Given the description of an element on the screen output the (x, y) to click on. 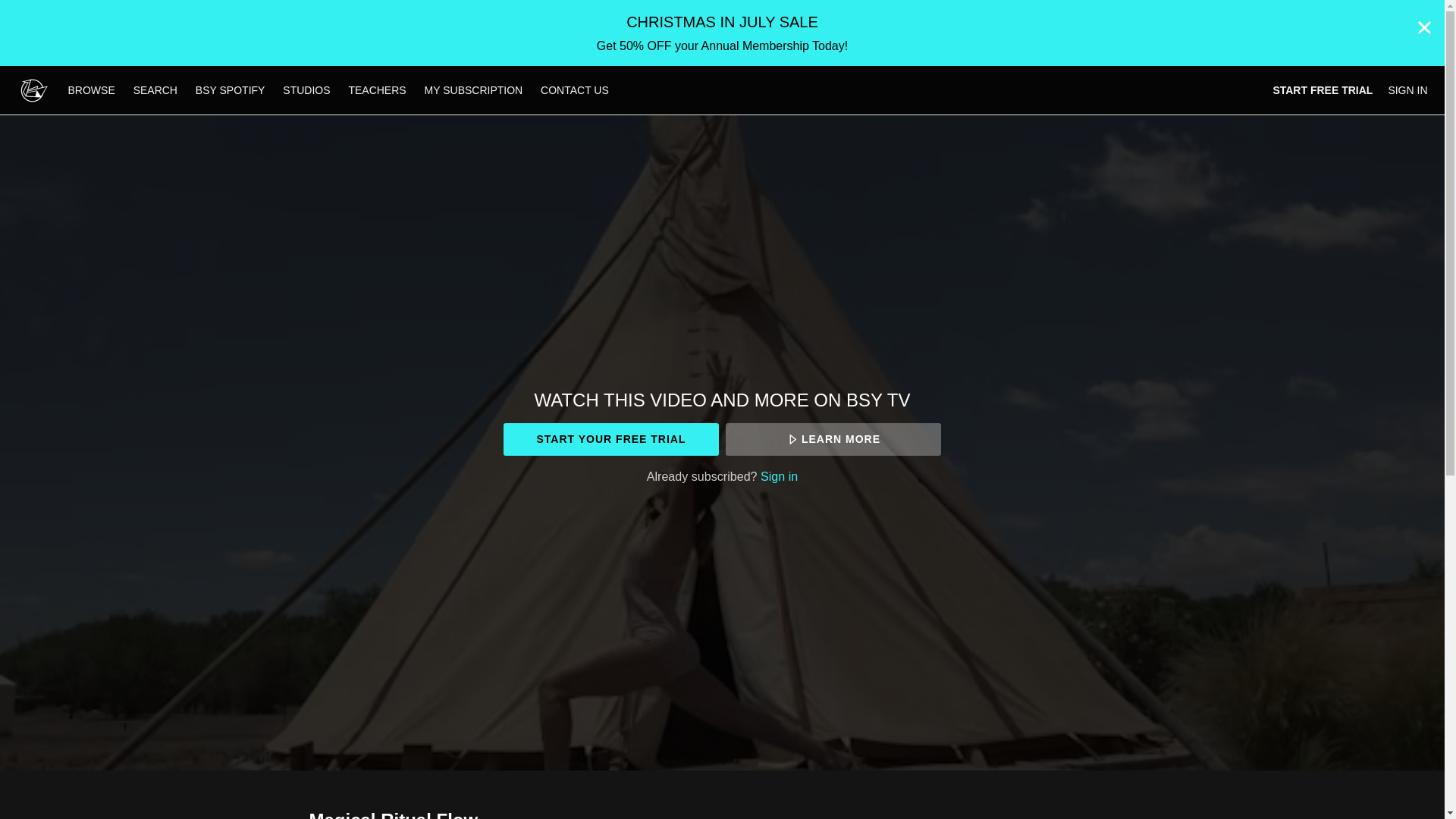
LEARN MORE (832, 439)
CONTACT US (573, 90)
BROWSE (93, 90)
SEARCH (156, 90)
STUDIOS (306, 90)
Skip to main content (48, 7)
START FREE TRIAL (1322, 90)
START YOUR FREE TRIAL (610, 439)
SIGN IN (1406, 90)
Sign in (778, 476)
MY SUBSCRIPTION (473, 90)
TEACHERS (376, 90)
BSY SPOTIFY (230, 90)
